Given the description of an element on the screen output the (x, y) to click on. 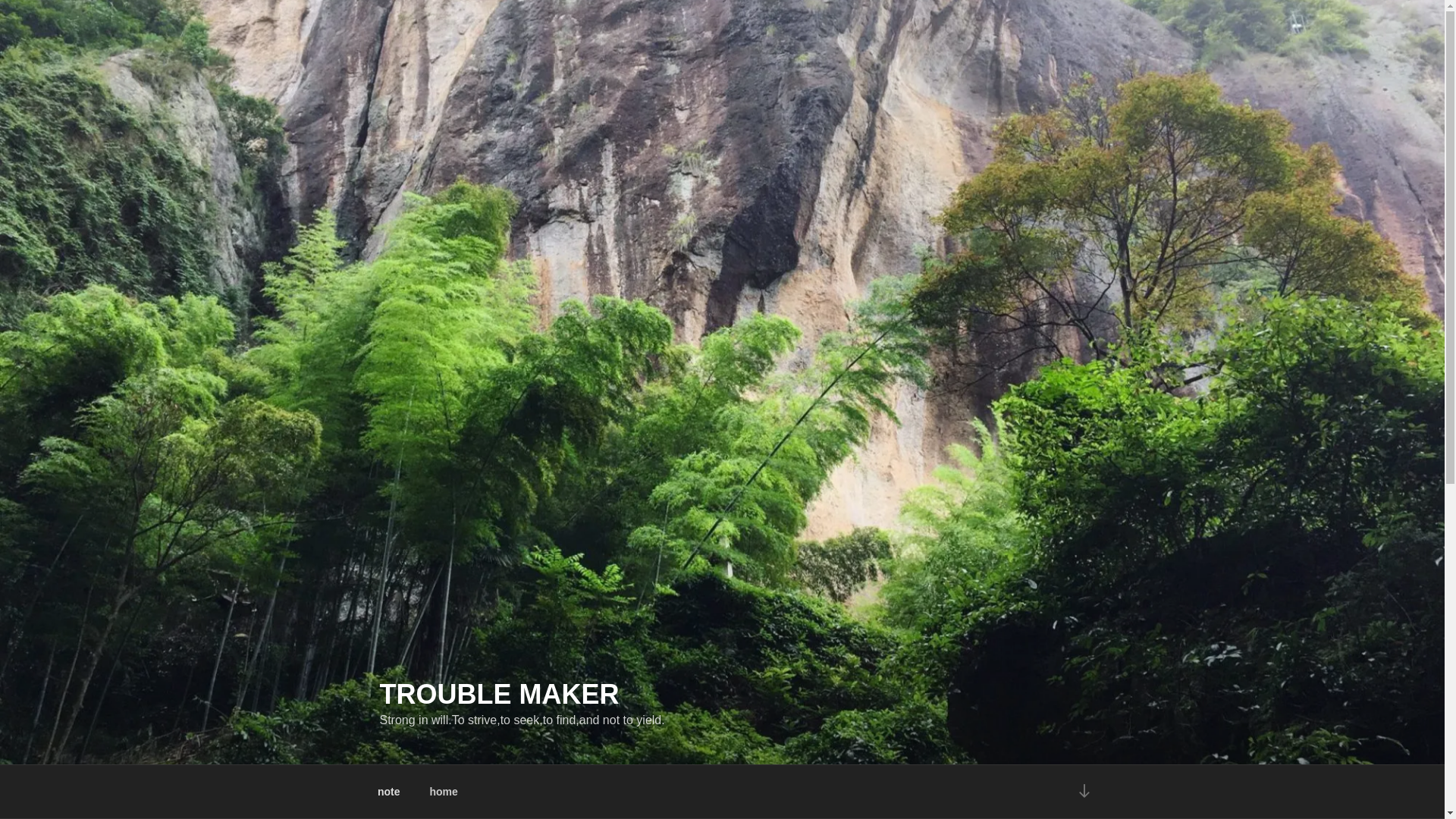
home Element type: text (443, 791)
note Element type: text (388, 791)
TROUBLE MAKER Element type: text (498, 693)
